Given the description of an element on the screen output the (x, y) to click on. 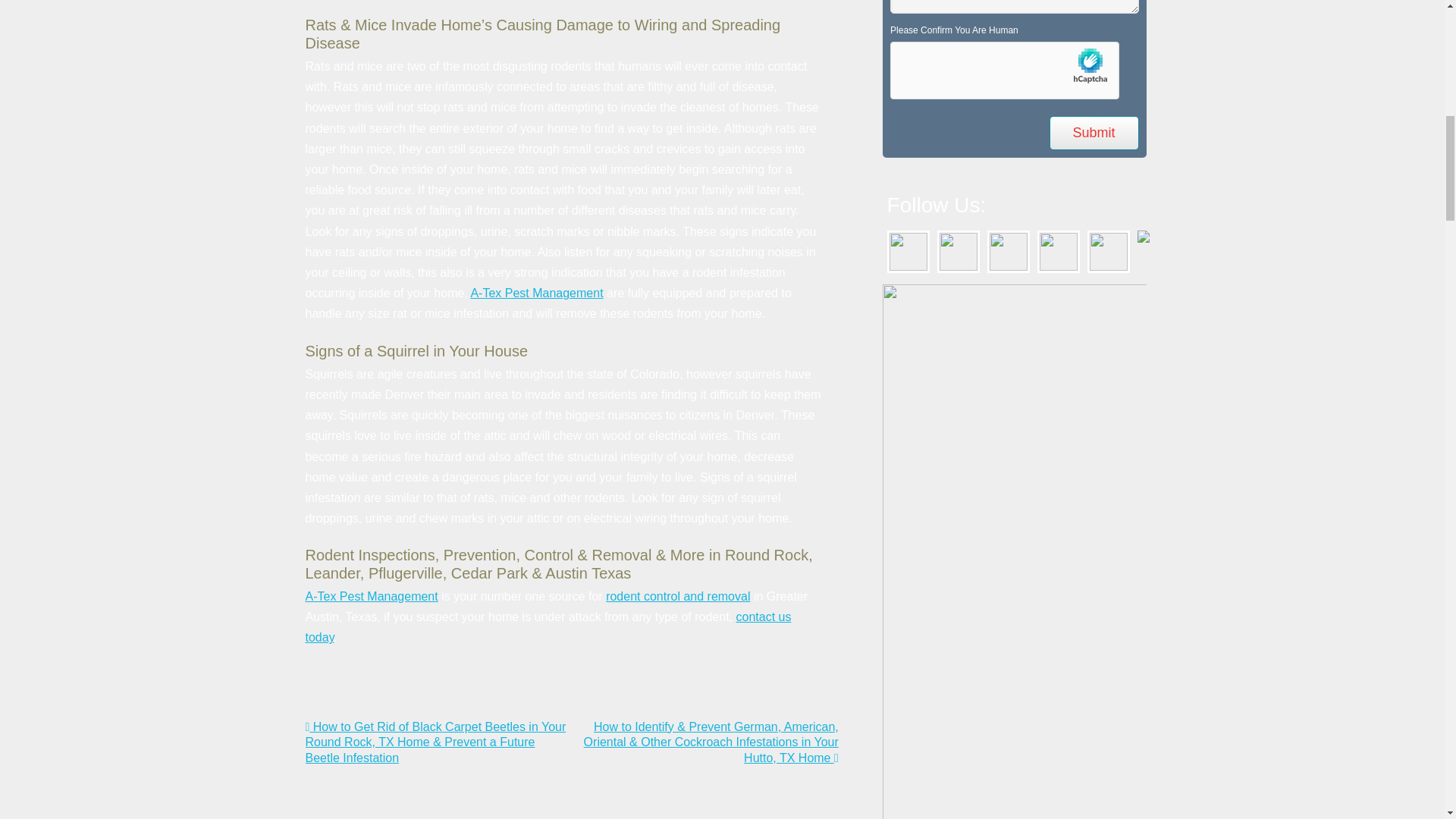
Submit (1093, 132)
